Given the description of an element on the screen output the (x, y) to click on. 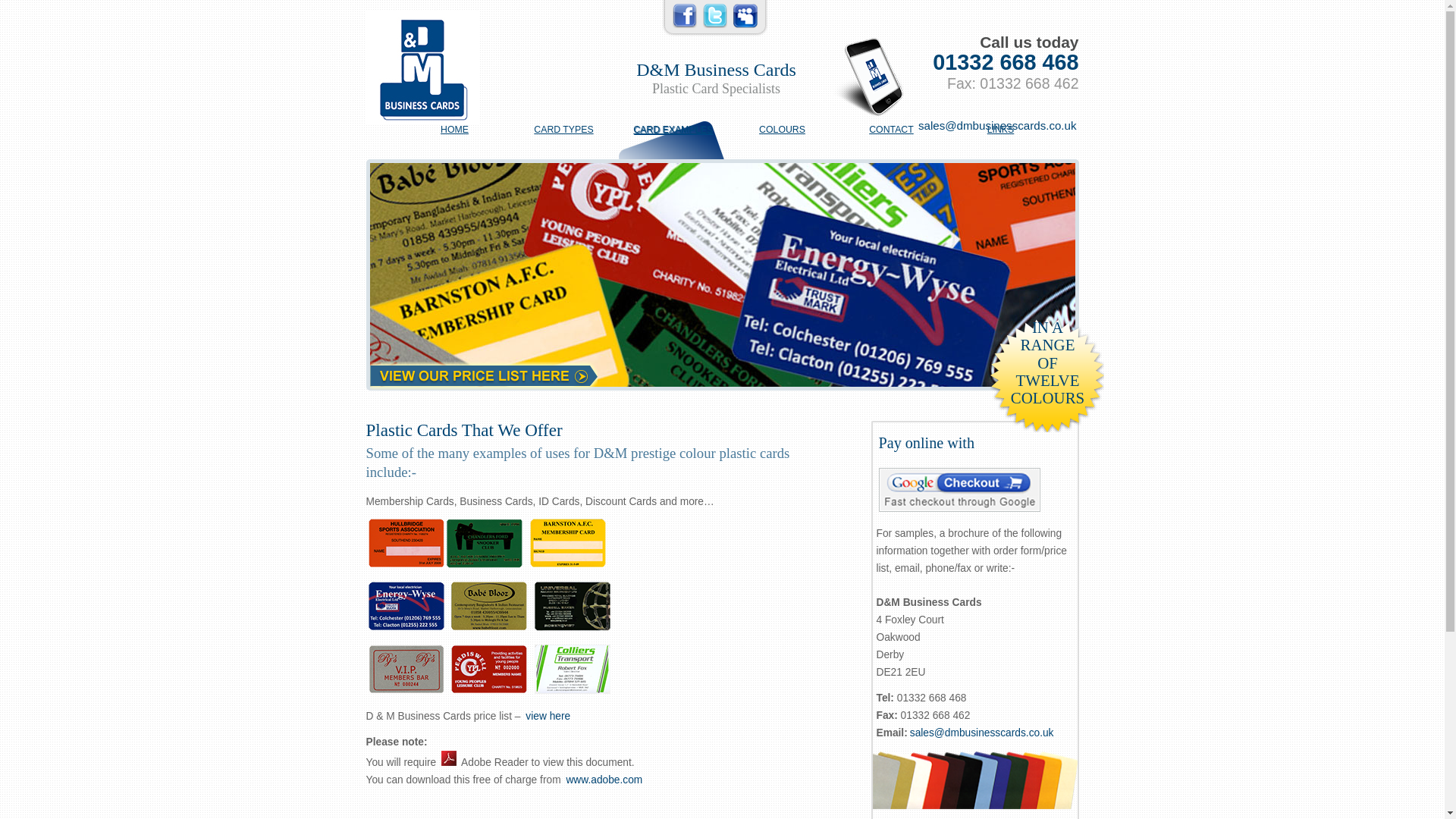
CONTACT (891, 129)
view here (547, 715)
COLOURS (781, 129)
red-small (489, 668)
D and M Business Cards Price List (449, 758)
yellow-small (567, 543)
HOME (454, 129)
silver-small (406, 668)
orange-small (406, 543)
CARD TYPES (563, 129)
